Given the description of an element on the screen output the (x, y) to click on. 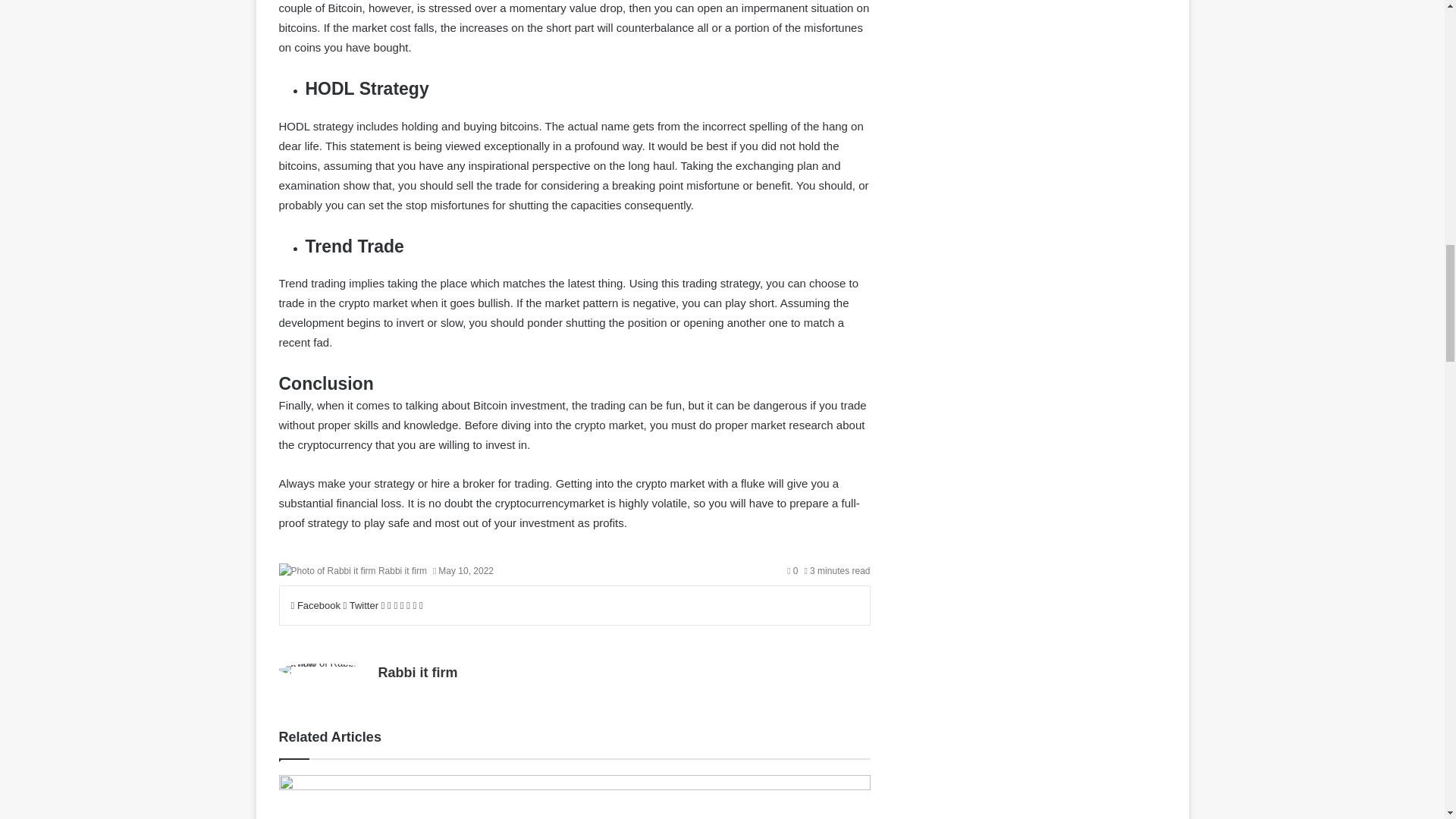
Rabbi it firm (402, 570)
Twitter (362, 604)
Twitter (362, 604)
Facebook (317, 604)
Rabbi it firm (402, 570)
Facebook (317, 604)
